Given the description of an element on the screen output the (x, y) to click on. 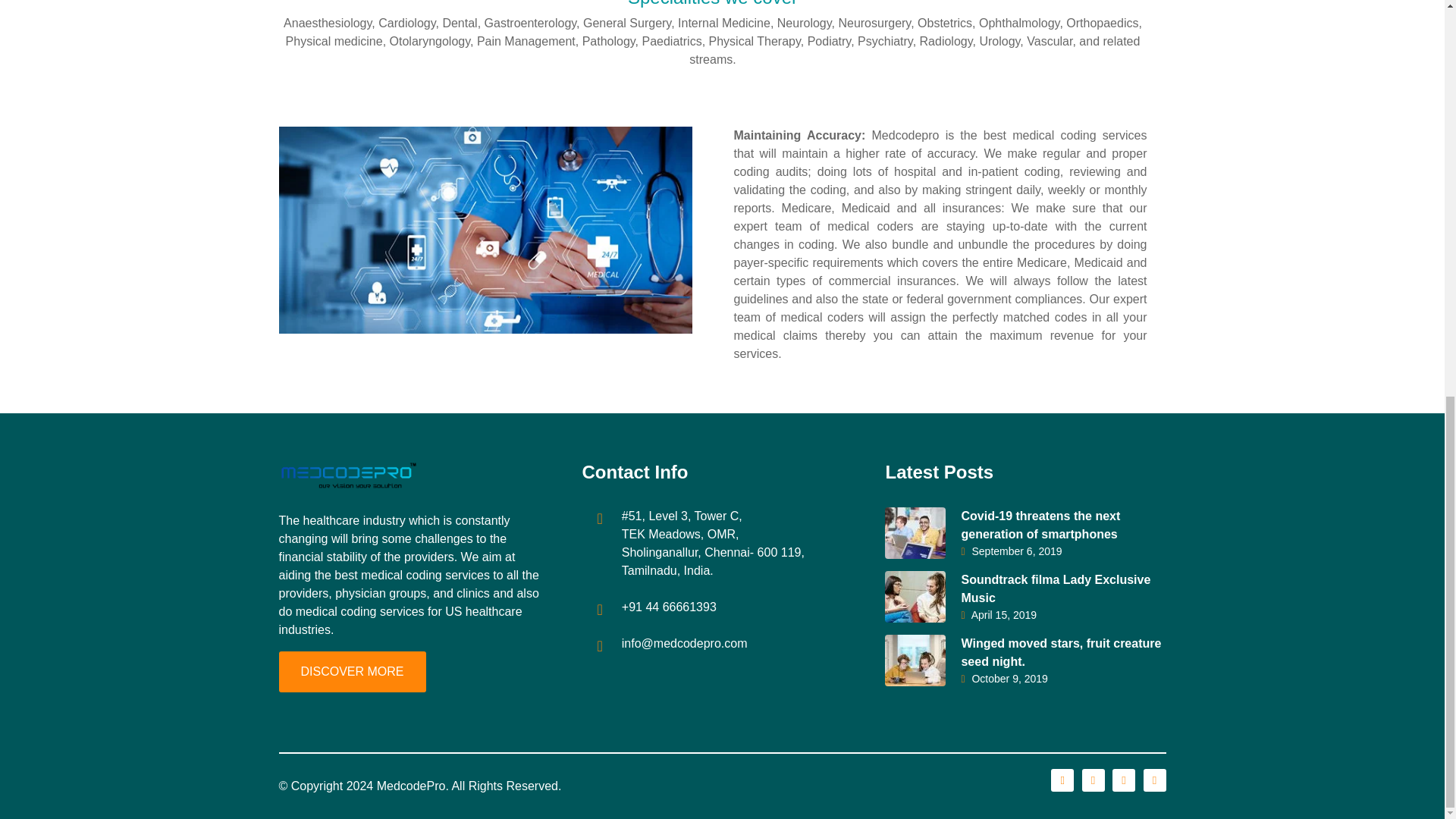
Covid-19 threatens the next generation of smartphones (1039, 524)
DISCOVER MORE (352, 671)
Soundtrack filma Lady Exclusive Music (1055, 588)
Winged moved stars, fruit creature seed night. (1060, 652)
